Given the description of an element on the screen output the (x, y) to click on. 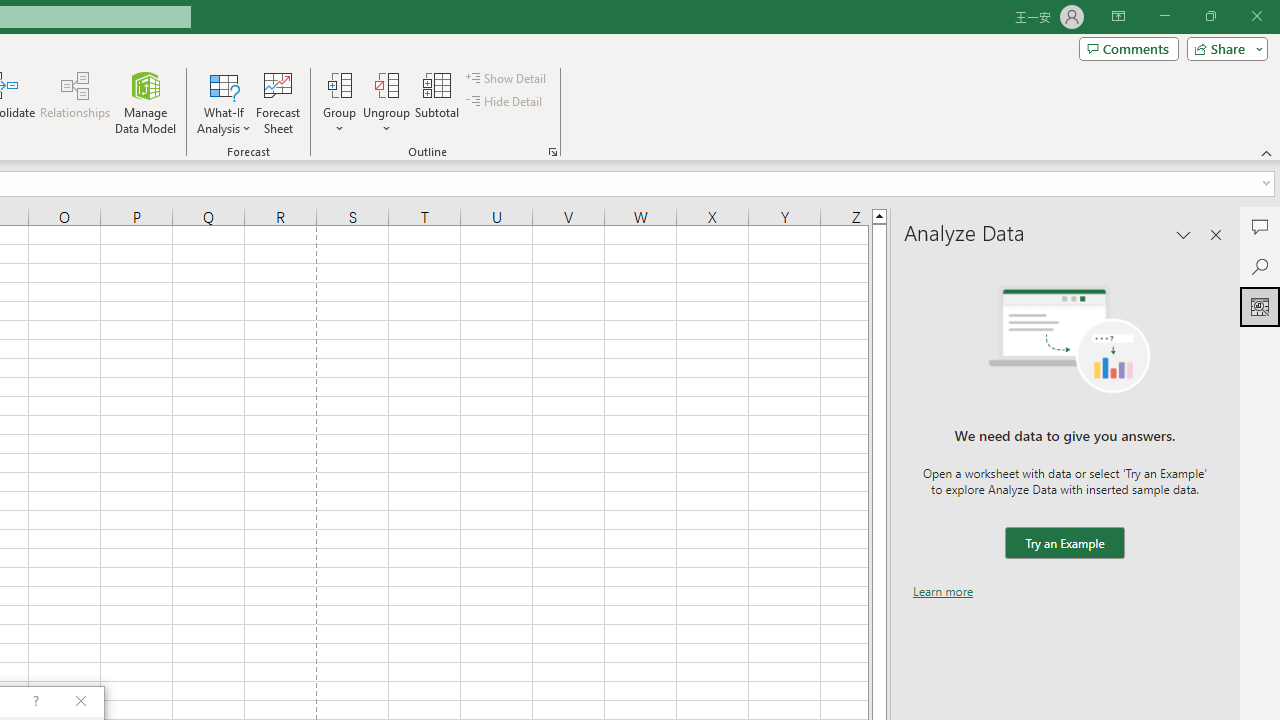
Line up (879, 215)
Collapse the Ribbon (1267, 152)
Hide Detail (505, 101)
Search (1260, 266)
Ribbon Display Options (1118, 16)
Forecast Sheet (278, 102)
We need data to give you answers. Try an Example (1064, 543)
Group... (339, 84)
Comments (1128, 48)
Task Pane Options (1183, 234)
More Options (386, 121)
Learn more (943, 591)
Share (1223, 48)
Group... (339, 102)
